Given the description of an element on the screen output the (x, y) to click on. 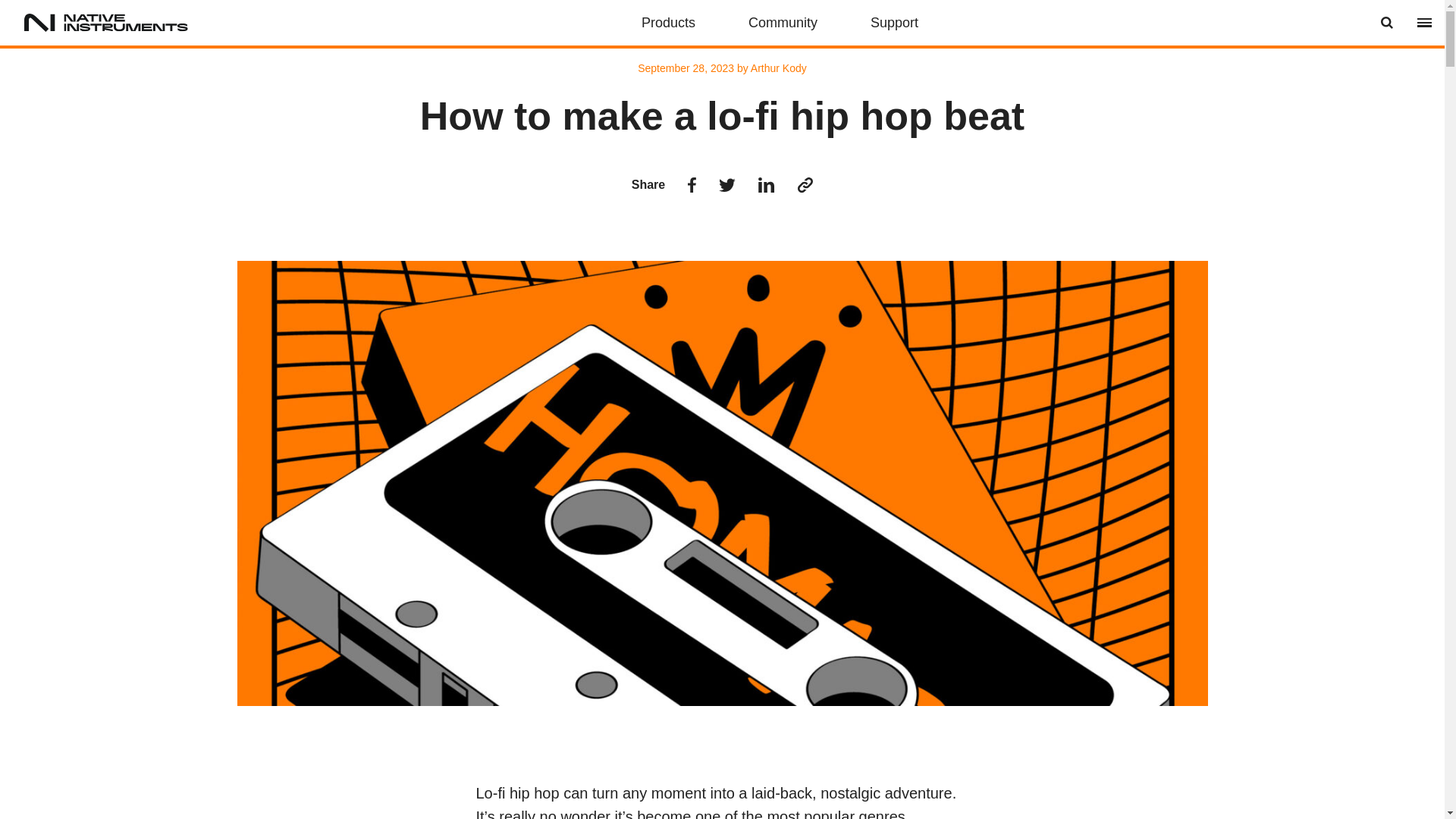
Community (782, 22)
Support (894, 22)
Products (668, 22)
